Given the description of an element on the screen output the (x, y) to click on. 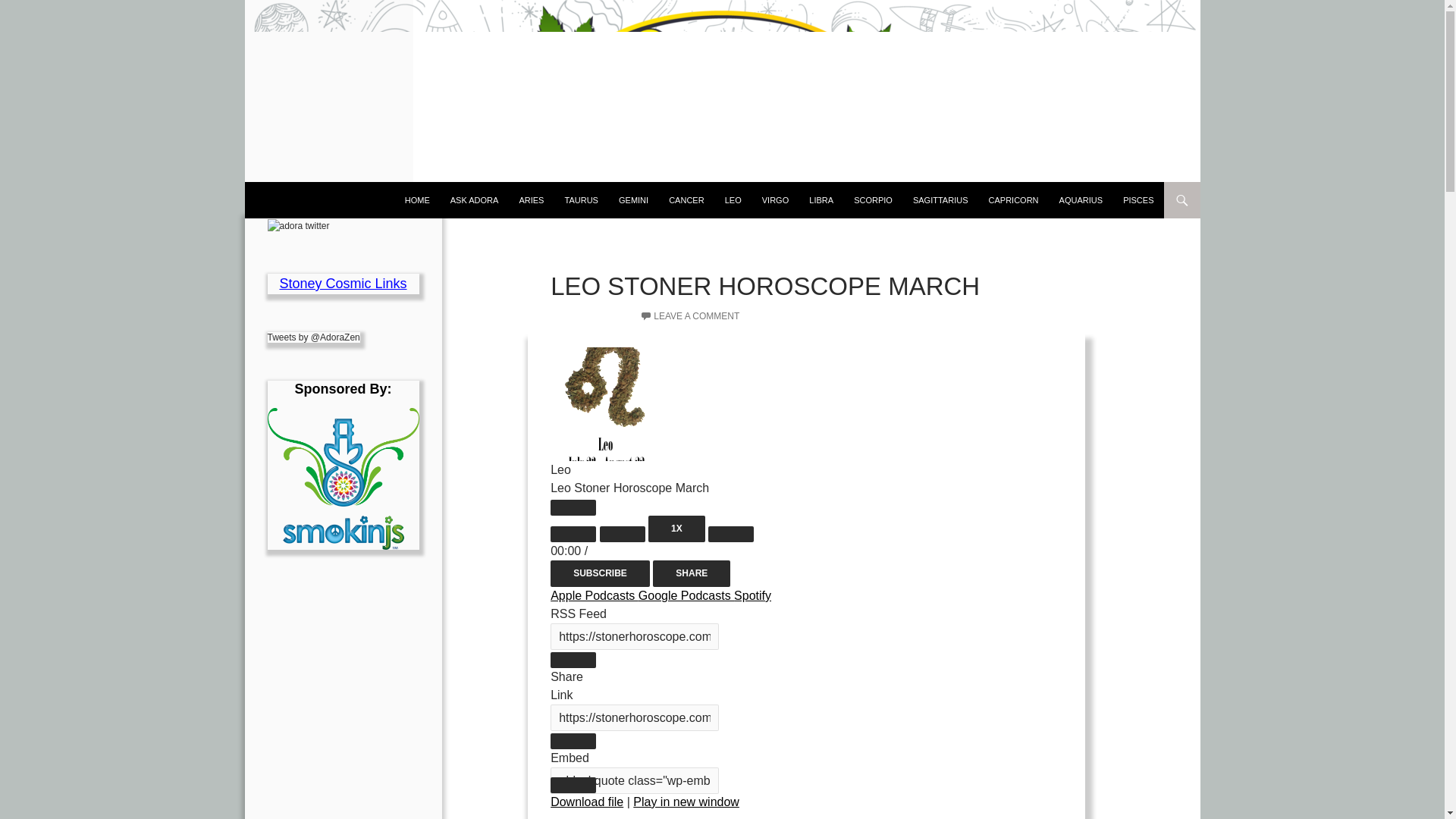
Playback Speed (675, 528)
Subscribe (599, 573)
REWIND 10 SECONDS (622, 534)
AQUARIUS (1080, 199)
FAST FORWARD 30 SECONDS (730, 534)
Stoner Horoscopes (417, 199)
ASK ADORA (474, 199)
SCORPIO (872, 199)
LEO (733, 199)
SUBSCRIBE (599, 573)
Subscribe on  Spotify (752, 594)
Share (691, 573)
Google Podcasts (686, 594)
Apple Podcasts (594, 594)
PLAY EPISODE (572, 507)
